Given the description of an element on the screen output the (x, y) to click on. 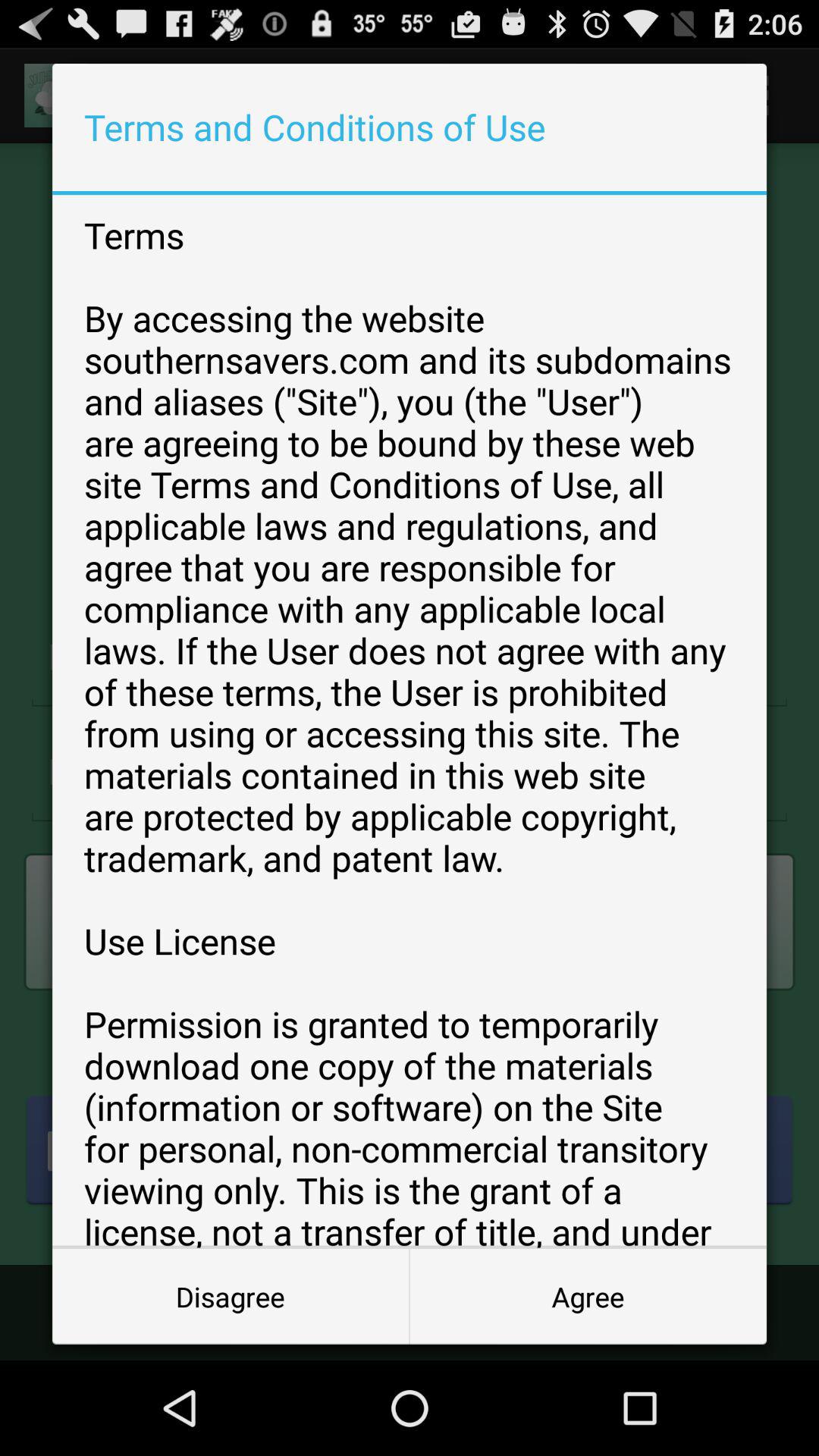
click the icon next to the disagree icon (588, 1296)
